Given the description of an element on the screen output the (x, y) to click on. 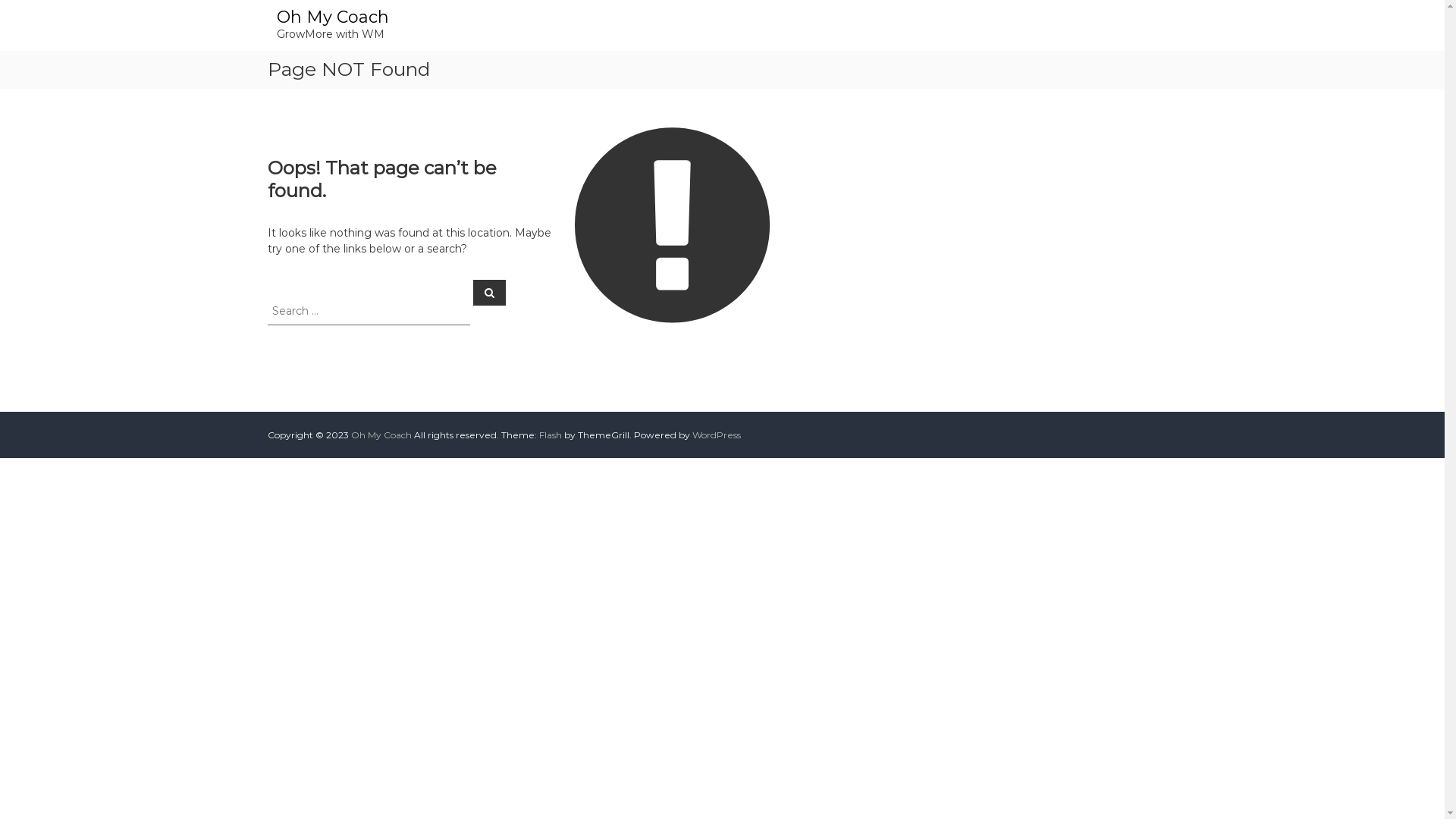
Search Element type: text (489, 291)
Flash Element type: text (549, 434)
Oh My Coach Element type: text (332, 16)
Oh My Coach Element type: text (380, 434)
WordPress Element type: text (715, 434)
